Given the description of an element on the screen output the (x, y) to click on. 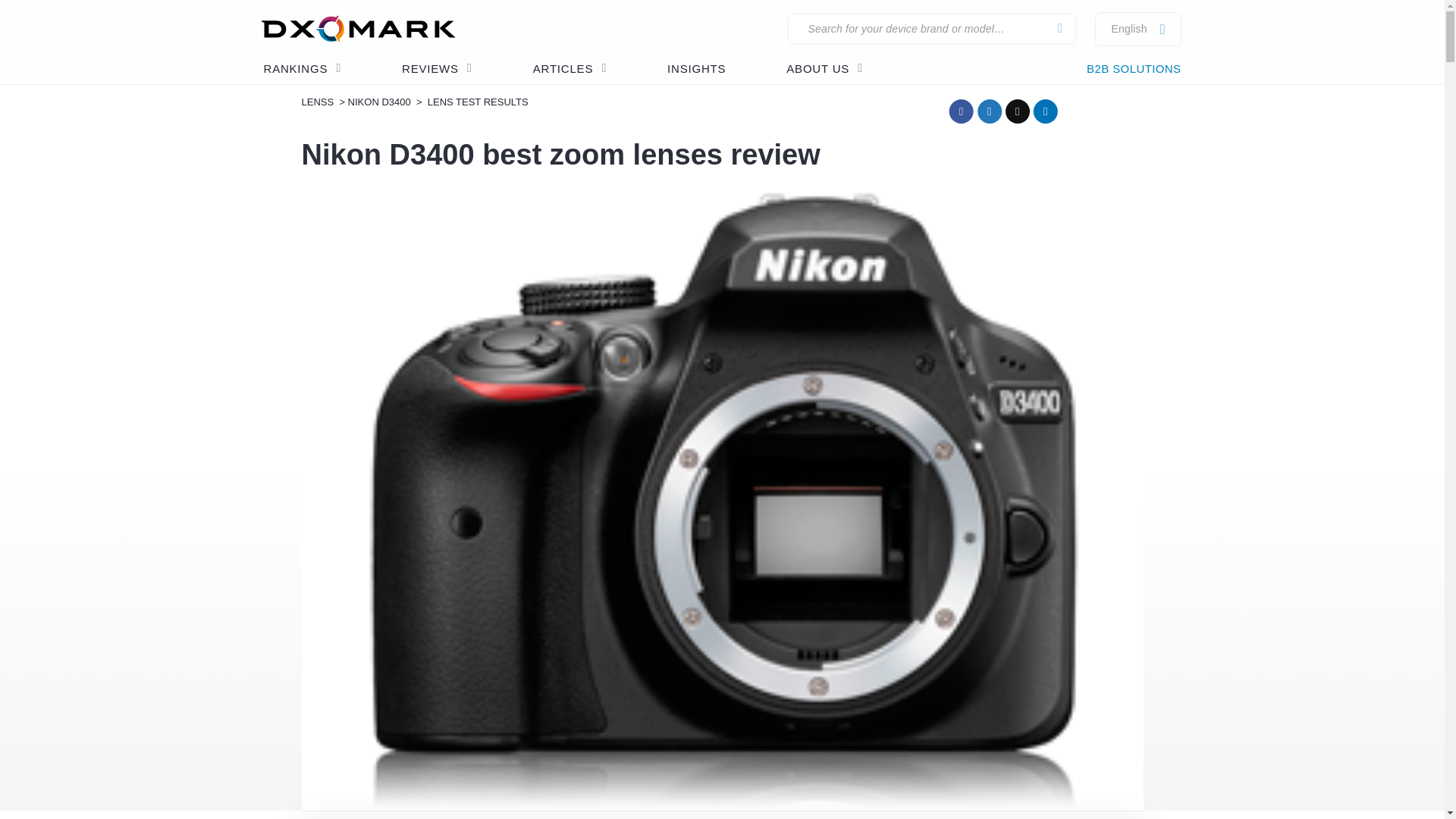
ARTICLES (569, 69)
Share on Facebook (964, 114)
LENSS (317, 101)
INSIGHTS (696, 69)
Share on LinkedIn (1048, 114)
Email to a Friend (1020, 114)
B2B SOLUTIONS (1133, 69)
ABOUT US (824, 69)
English (1128, 29)
